Given the description of an element on the screen output the (x, y) to click on. 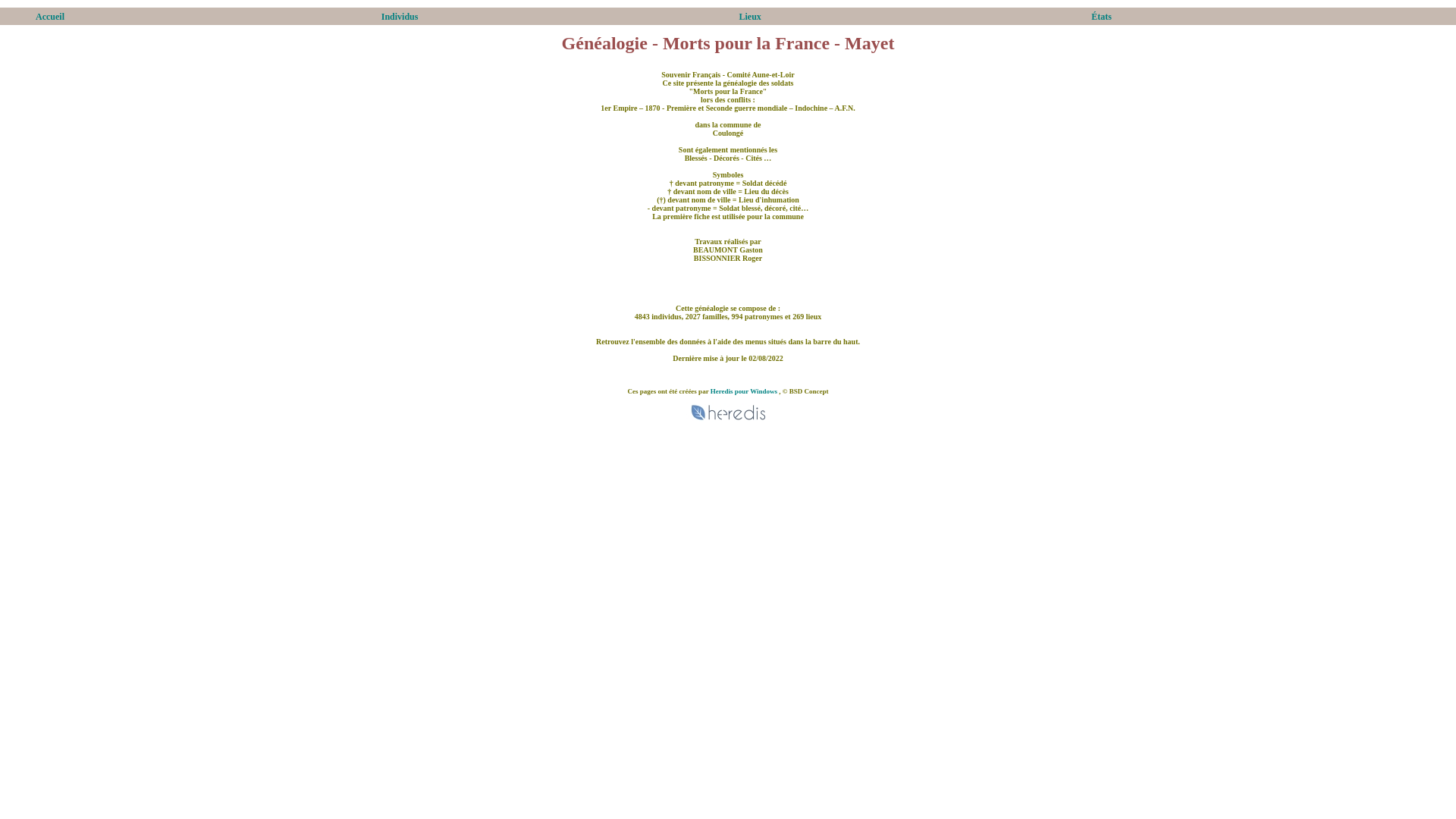
Heredis pour Windows Element type: text (743, 391)
